Given the description of an element on the screen output the (x, y) to click on. 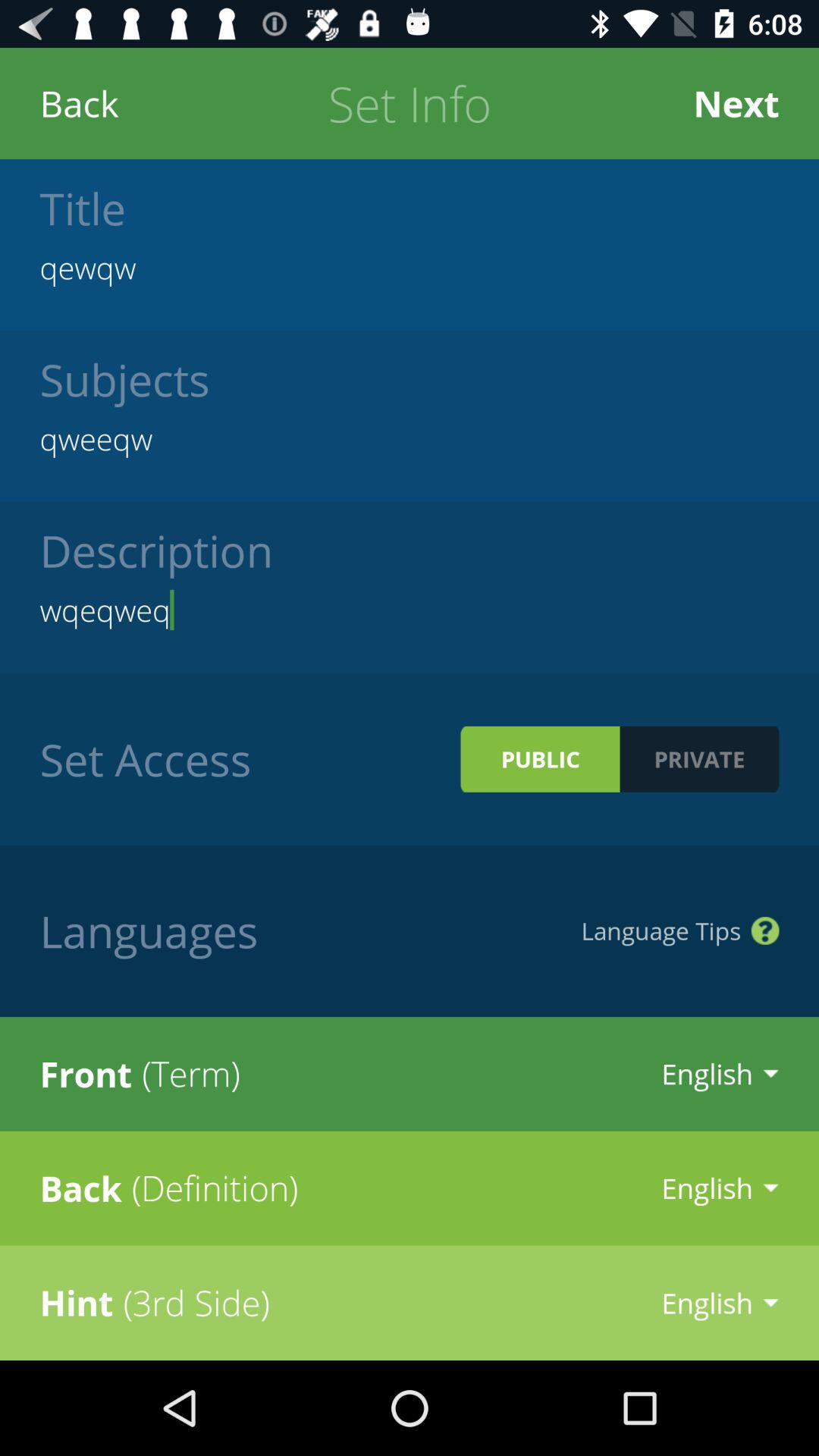
open icon next to set access icon (539, 759)
